Given the description of an element on the screen output the (x, y) to click on. 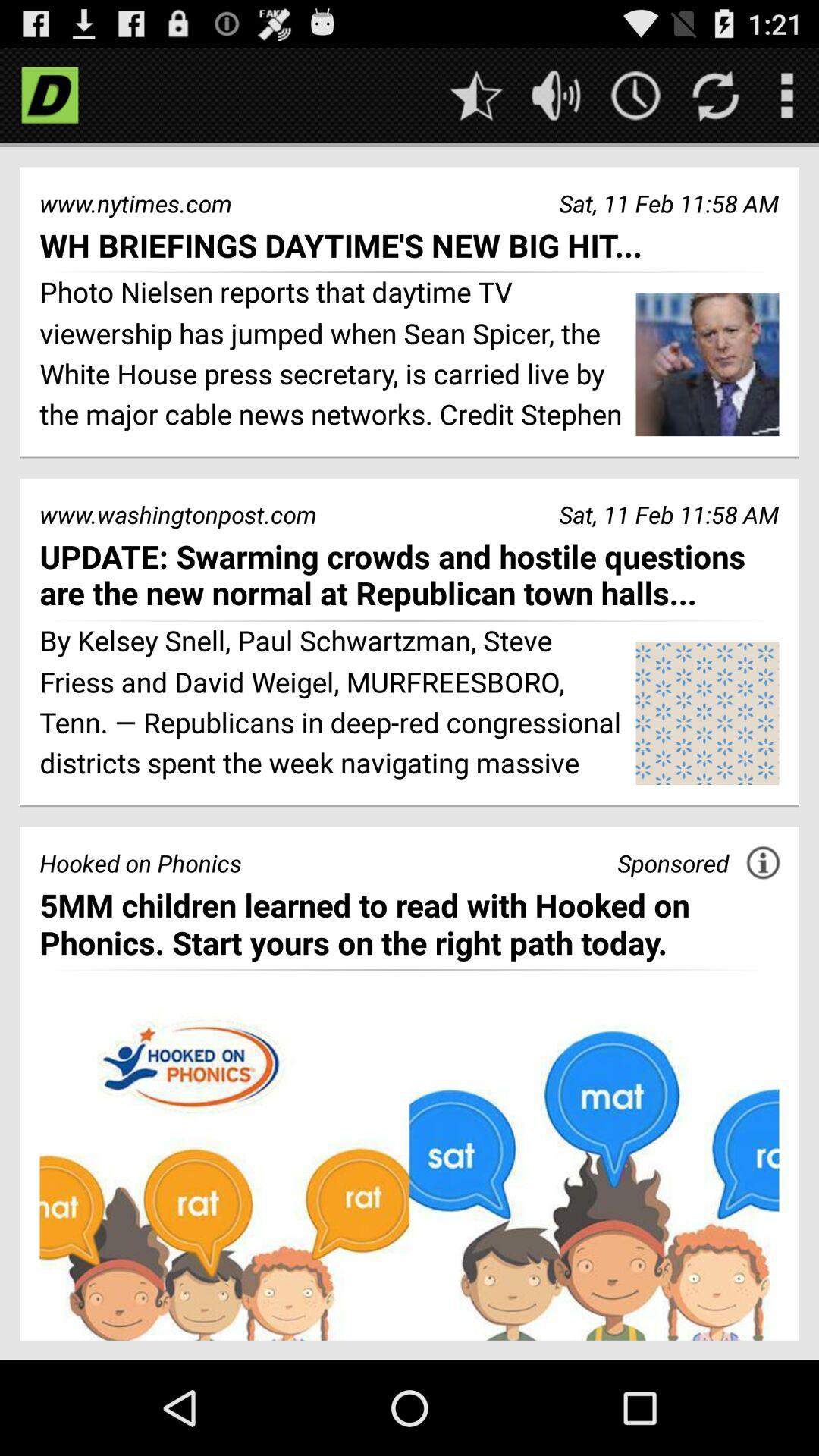
press icon below the www.washingtonpost.com item (409, 574)
